Given the description of an element on the screen output the (x, y) to click on. 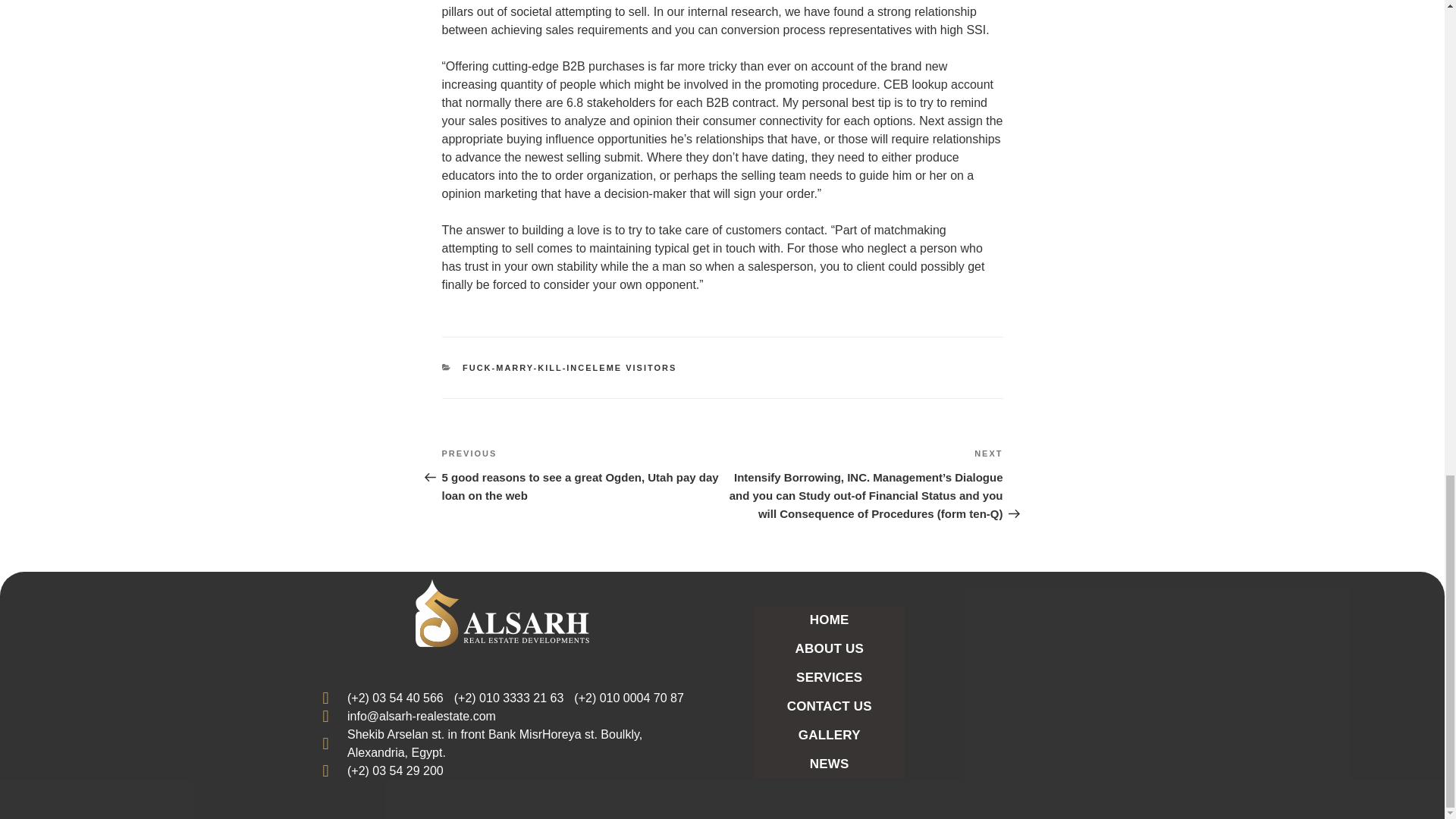
FUCK-MARRY-KILL-INCELEME VISITORS (570, 367)
SERVICES (829, 677)
GALLERY (829, 735)
HOME (829, 620)
ABOUT US (829, 648)
CONTACT US (829, 706)
NEWS (829, 764)
